Given the description of an element on the screen output the (x, y) to click on. 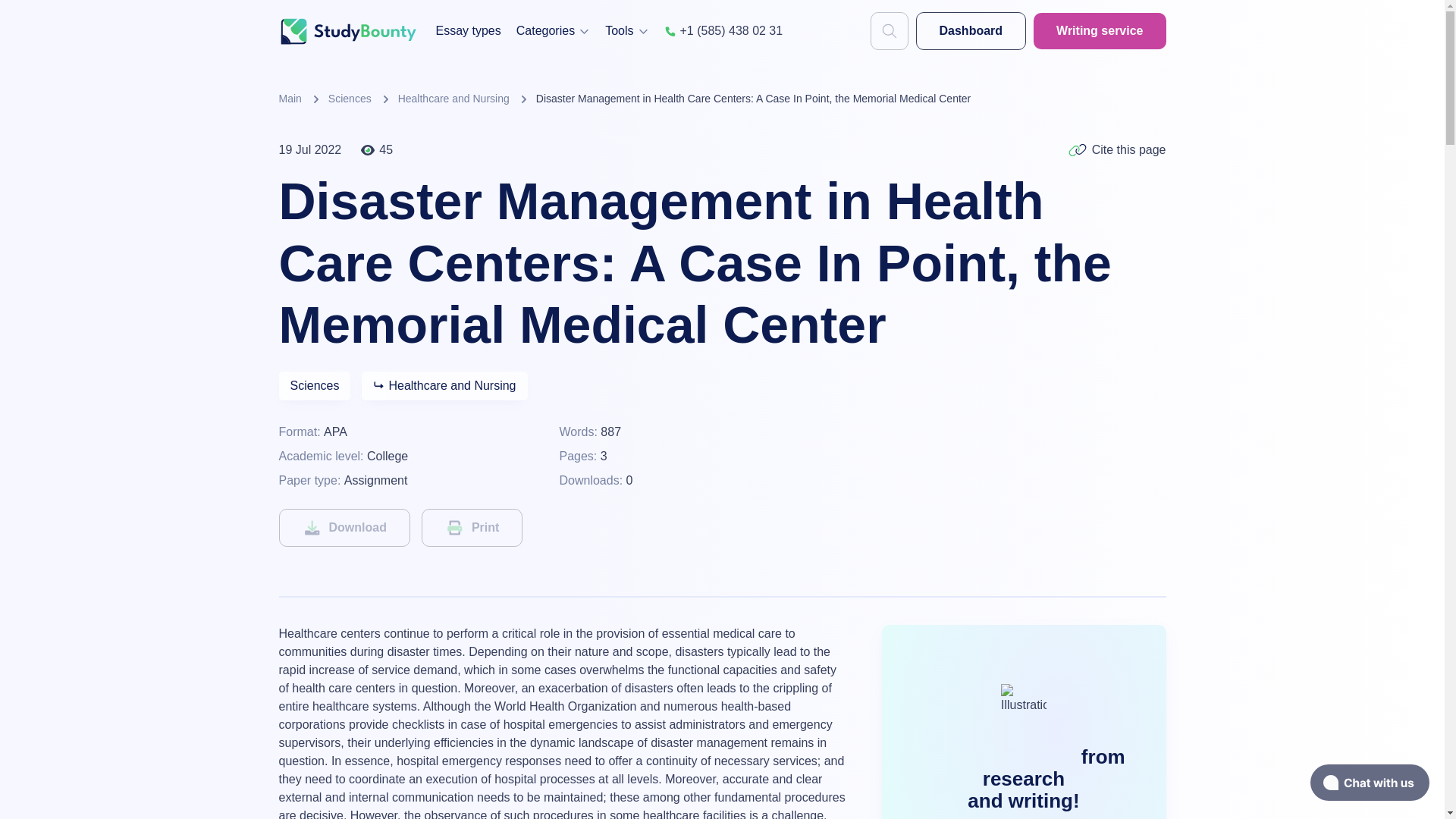
Categories (552, 31)
Date published (310, 149)
Views (376, 149)
Essay types (467, 30)
